Given the description of an element on the screen output the (x, y) to click on. 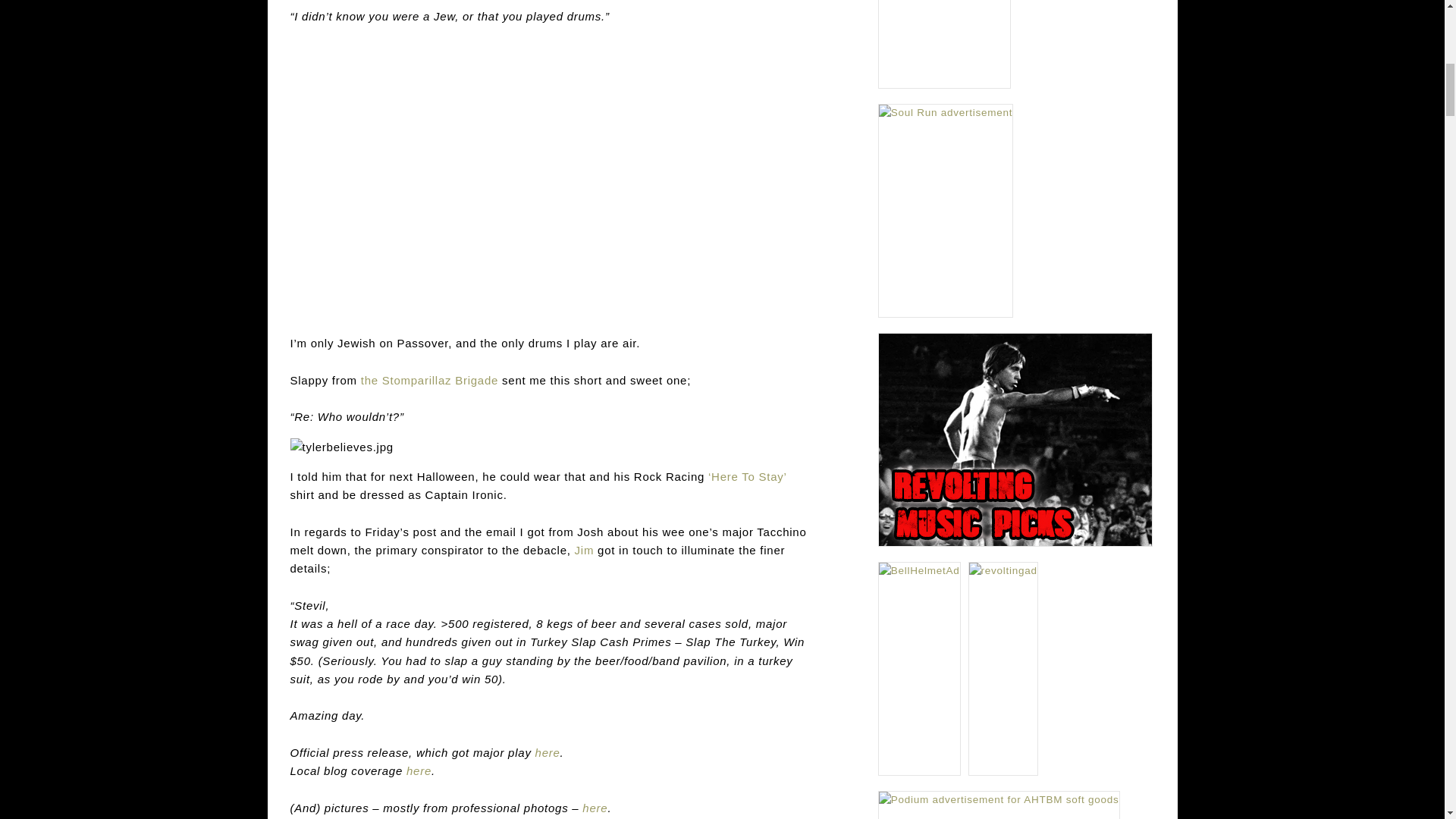
Jim (584, 549)
here (594, 807)
the Stomparillaz Brigade (429, 379)
here (547, 752)
here (418, 770)
